Given the description of an element on the screen output the (x, y) to click on. 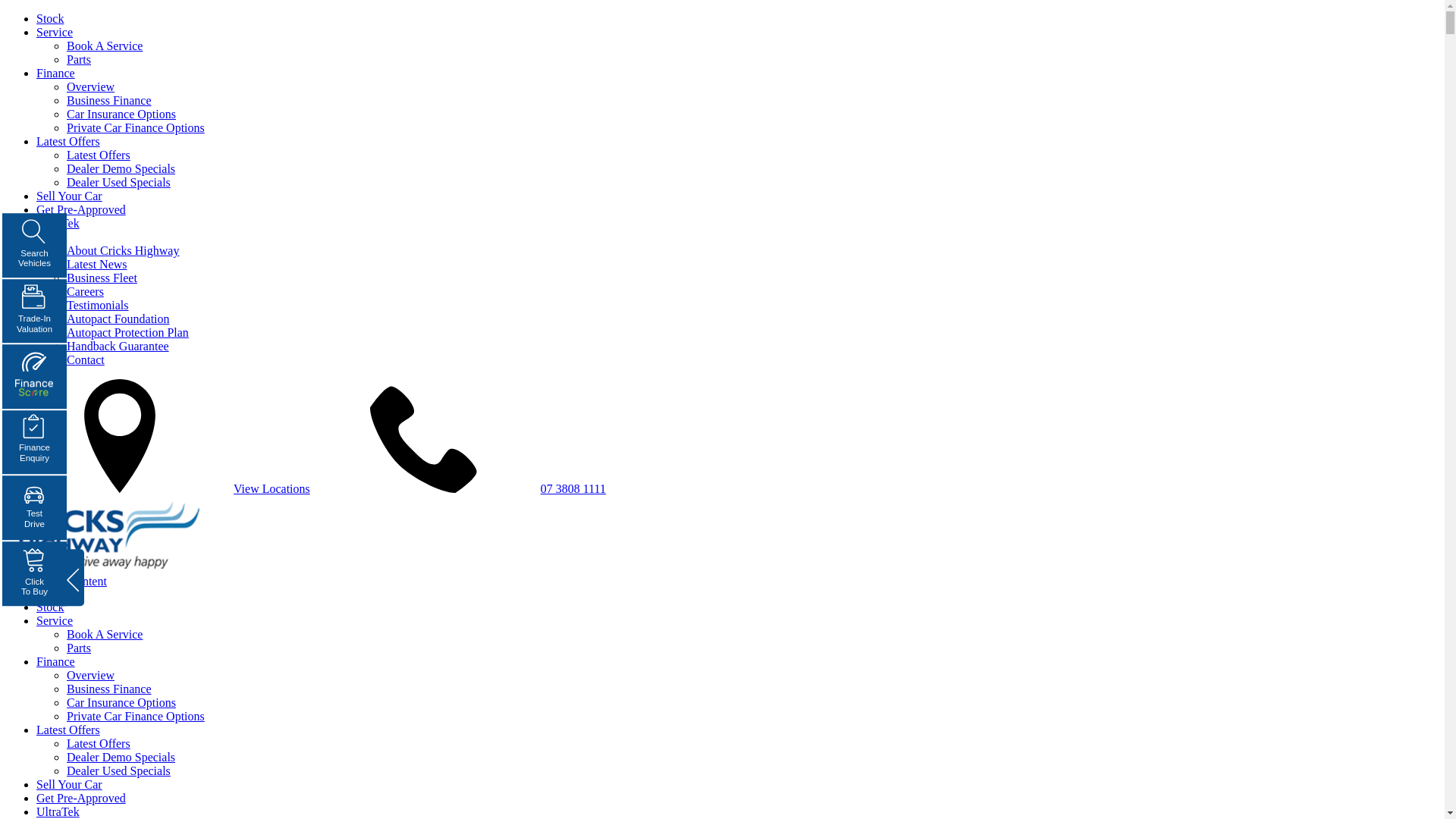
Handback Guarantee Element type: text (117, 345)
UltraTek Element type: text (57, 222)
Overview Element type: text (90, 674)
Business Fleet Element type: text (101, 277)
Book A Service Element type: text (104, 45)
Careers Element type: text (84, 291)
Sell Your Car Element type: text (69, 784)
Dealer Used Specials Element type: text (118, 770)
Stock Element type: text (49, 606)
Latest Offers Element type: text (98, 743)
Latest Offers Element type: text (68, 140)
07 3808 1111 Element type: text (572, 488)
Private Car Finance Options Element type: text (135, 715)
Get Pre-Approved Element type: text (80, 209)
Latest Offers Element type: text (68, 729)
Parts Element type: text (78, 59)
Latest Offers Element type: text (98, 154)
Private Car Finance Options Element type: text (135, 127)
Overview Element type: text (90, 86)
Trade-In
Valuation Element type: text (34, 311)
Contact Element type: text (85, 359)
View Locations Element type: text (271, 488)
Dealer Demo Specials Element type: text (120, 756)
Latest News Element type: text (96, 263)
Dealer Used Specials Element type: text (118, 181)
Finance Element type: text (55, 661)
Business Finance Element type: text (108, 100)
Skip to main content Element type: text (56, 580)
Finance Element type: text (55, 72)
Service Element type: text (54, 31)
Parts Element type: text (78, 647)
Stock Element type: text (49, 18)
Sell Your Car Element type: text (69, 195)
About Cricks Highway Element type: text (122, 250)
Test
Drive Element type: text (34, 508)
Get Pre-Approved Element type: text (80, 797)
Car Insurance Options Element type: text (120, 702)
Finance
Enquiry Element type: text (34, 442)
About Element type: text (51, 236)
Autopact Protection Plan Element type: text (127, 332)
Search
Vehicles Element type: text (34, 245)
Testimonials Element type: text (97, 304)
Dealer Demo Specials Element type: text (120, 168)
Click
To Buy Element type: text (34, 573)
UltraTek Element type: text (57, 811)
Autopact Foundation Element type: text (117, 318)
Service Element type: text (54, 620)
Business Finance Element type: text (108, 688)
Car Insurance Options Element type: text (120, 113)
Book A Service Element type: text (104, 633)
